Given the description of an element on the screen output the (x, y) to click on. 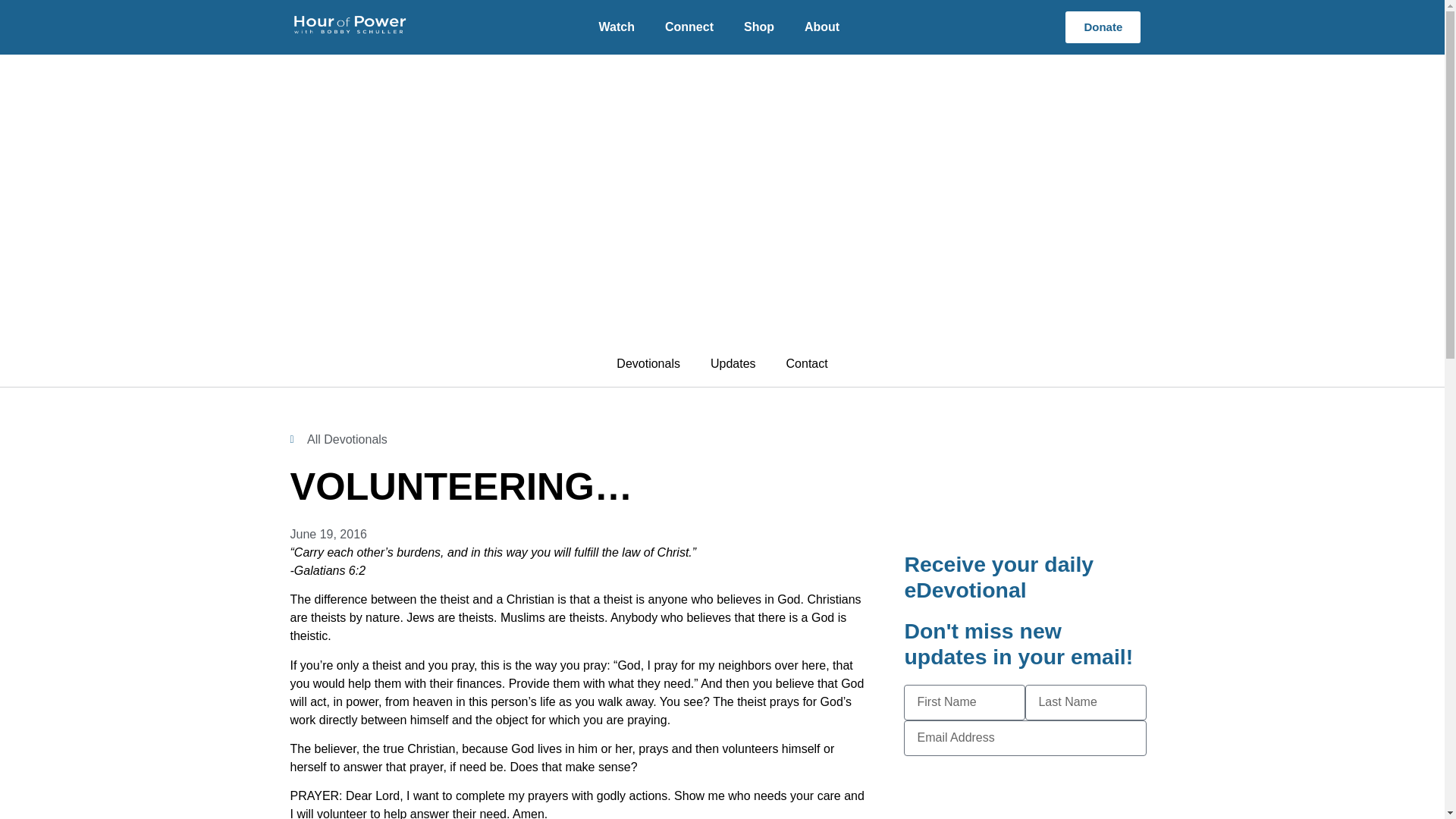
Connect (689, 26)
About (821, 26)
Donate (1102, 27)
June 19, 2016 (327, 534)
Shop (759, 26)
Contact (807, 363)
Subscribe (1025, 774)
Updates (733, 363)
All Devotionals (338, 439)
Devotionals (648, 363)
